Given the description of an element on the screen output the (x, y) to click on. 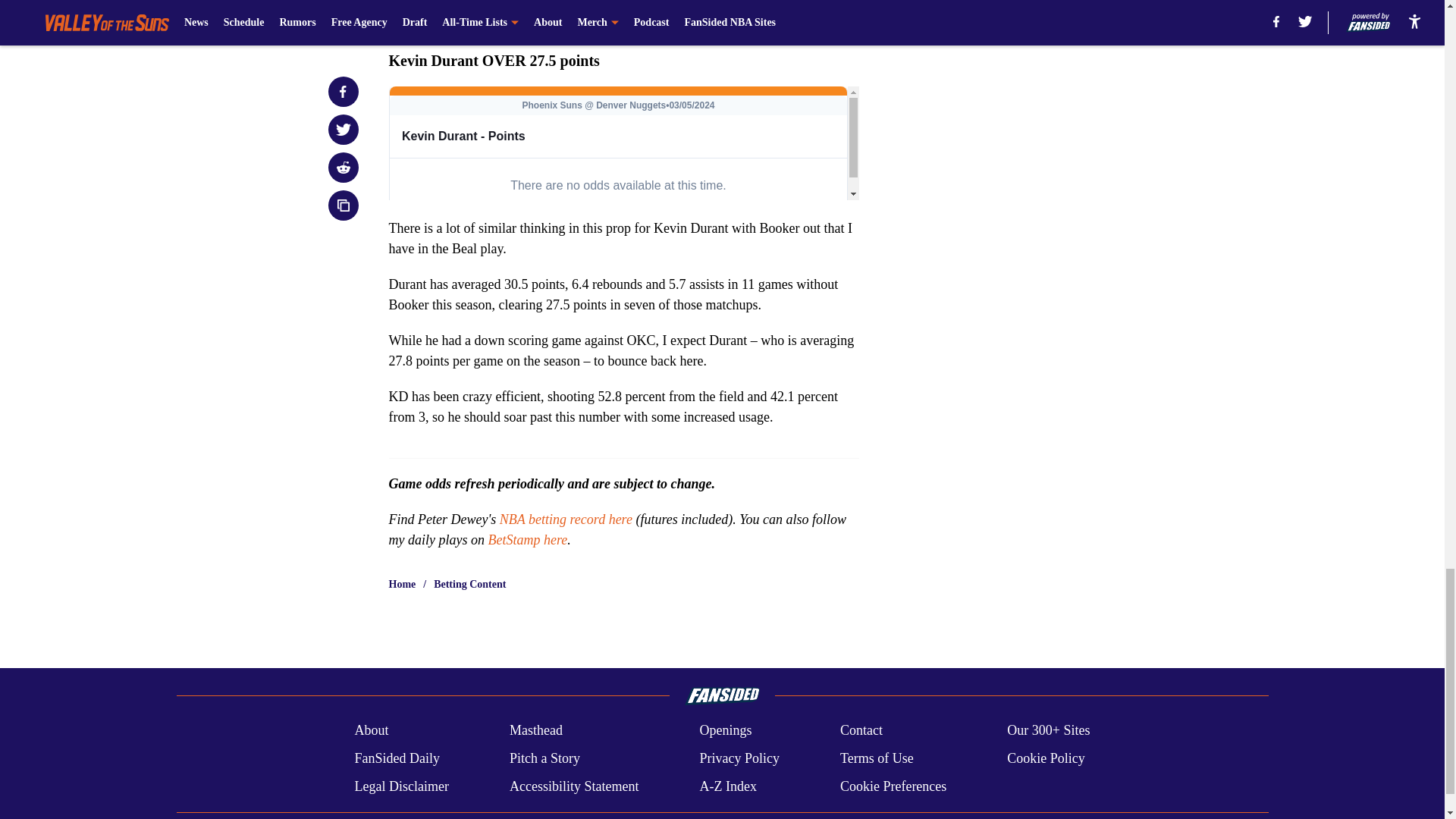
FanSided Daily (396, 758)
Home (401, 584)
NBA betting record here (565, 519)
BetStamp here (527, 539)
Contact (861, 729)
About (370, 729)
Pitch a Story (544, 758)
Masthead (535, 729)
Openings (724, 729)
Betting Content (469, 584)
